Given the description of an element on the screen output the (x, y) to click on. 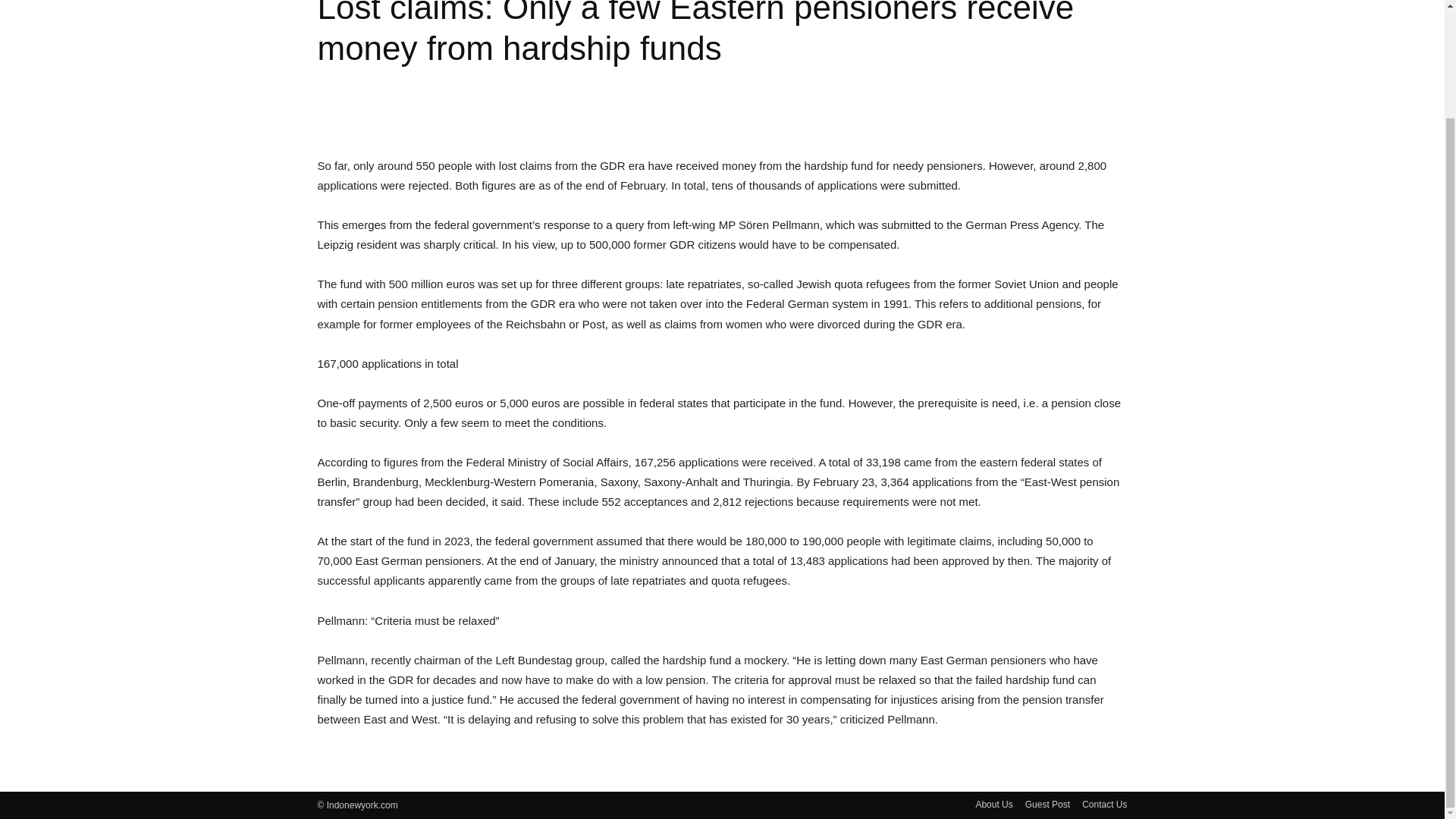
Guest Post (1047, 804)
Contact Us (1103, 804)
About Us (993, 804)
